Given the description of an element on the screen output the (x, y) to click on. 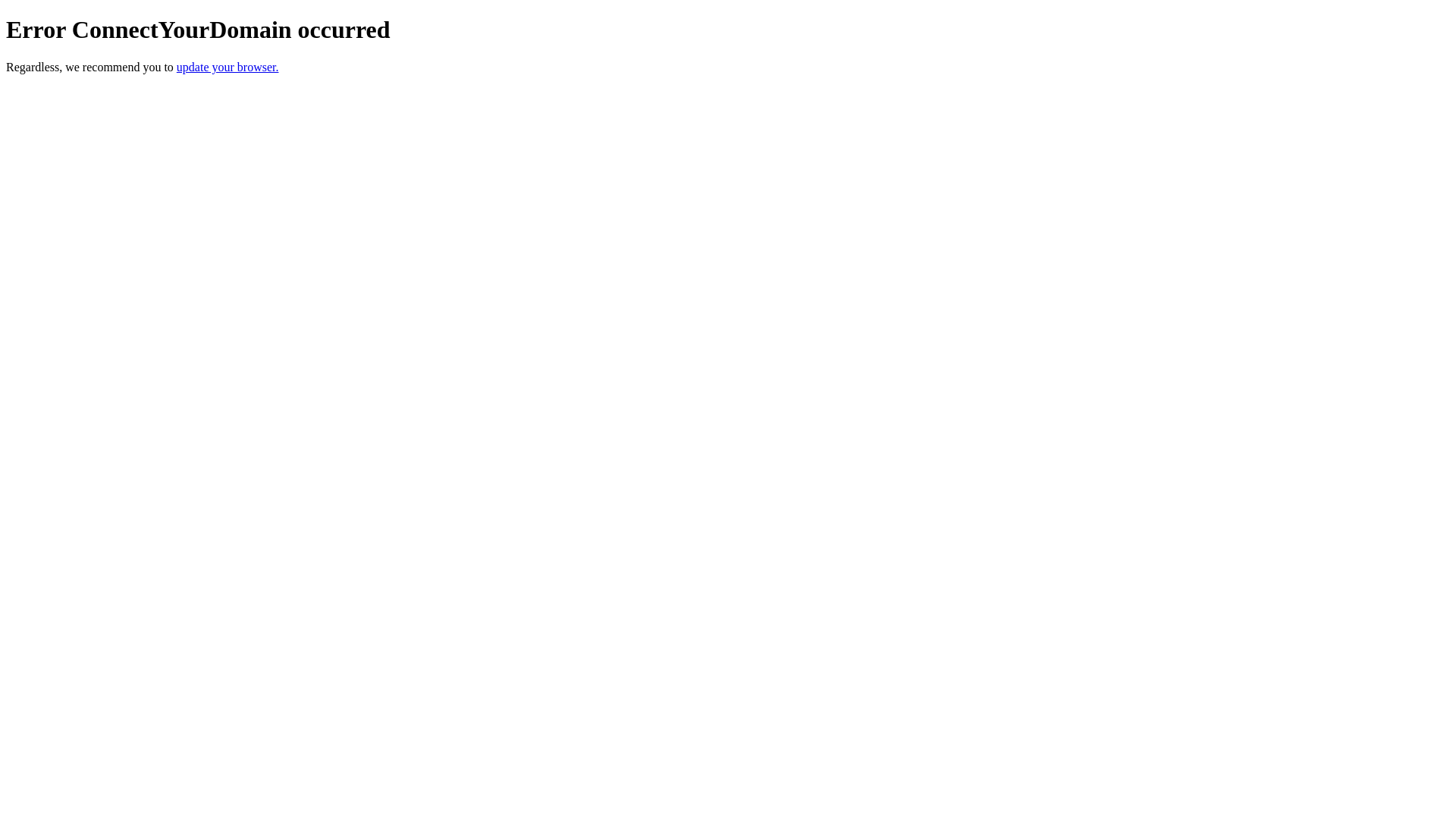
update your browser. Element type: text (227, 66)
